Given the description of an element on the screen output the (x, y) to click on. 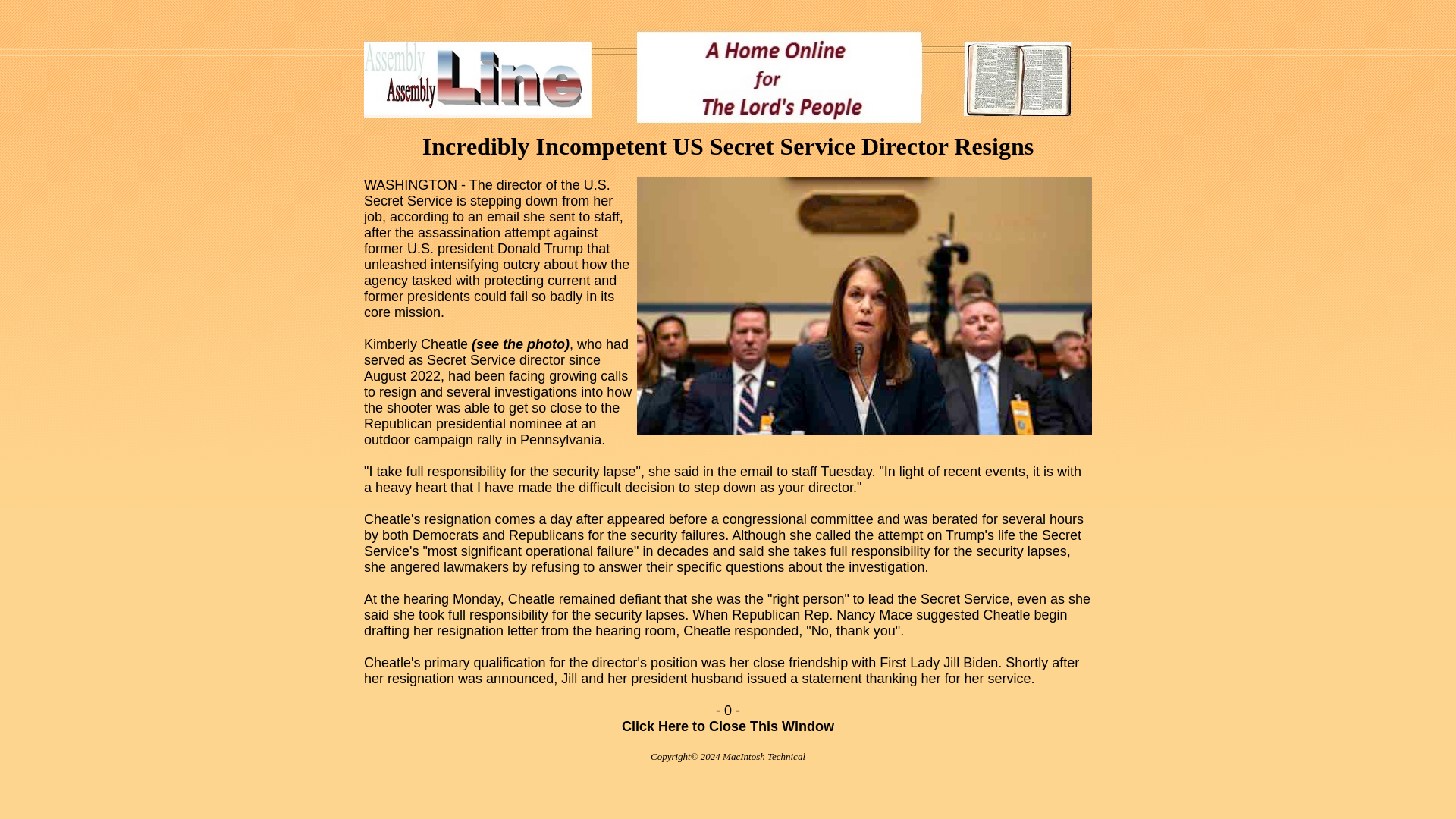
Click Here to Close This Window (728, 734)
